Given the description of an element on the screen output the (x, y) to click on. 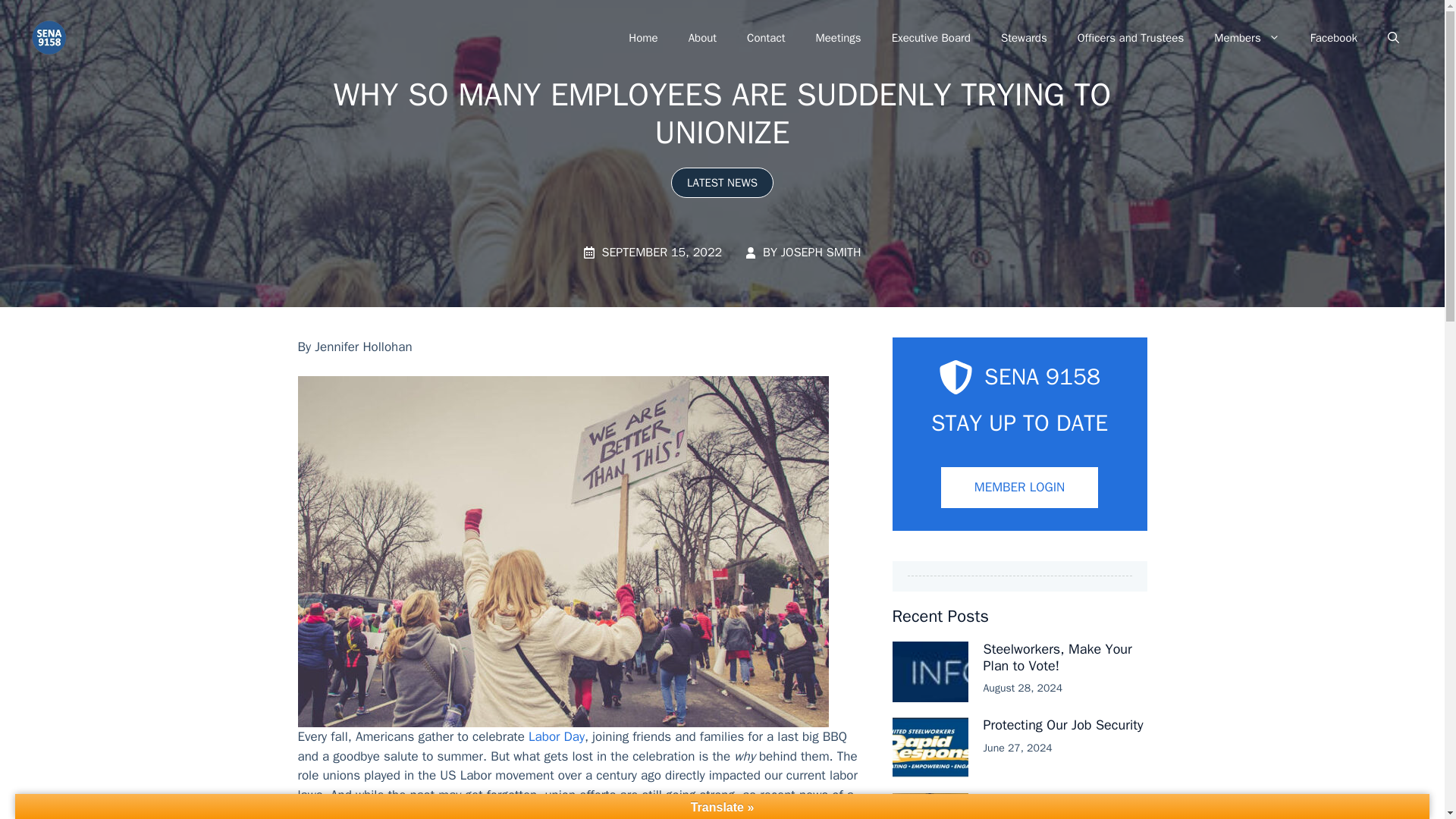
Officers and Trustees (1130, 37)
Labor Day (556, 736)
MEMBER LOGIN (1019, 486)
LATEST NEWS (722, 182)
Steelworkers, Make Your Plan to Vote! (1056, 657)
About (702, 37)
Facebook (1334, 37)
Home (642, 37)
rail strike (376, 812)
